Given the description of an element on the screen output the (x, y) to click on. 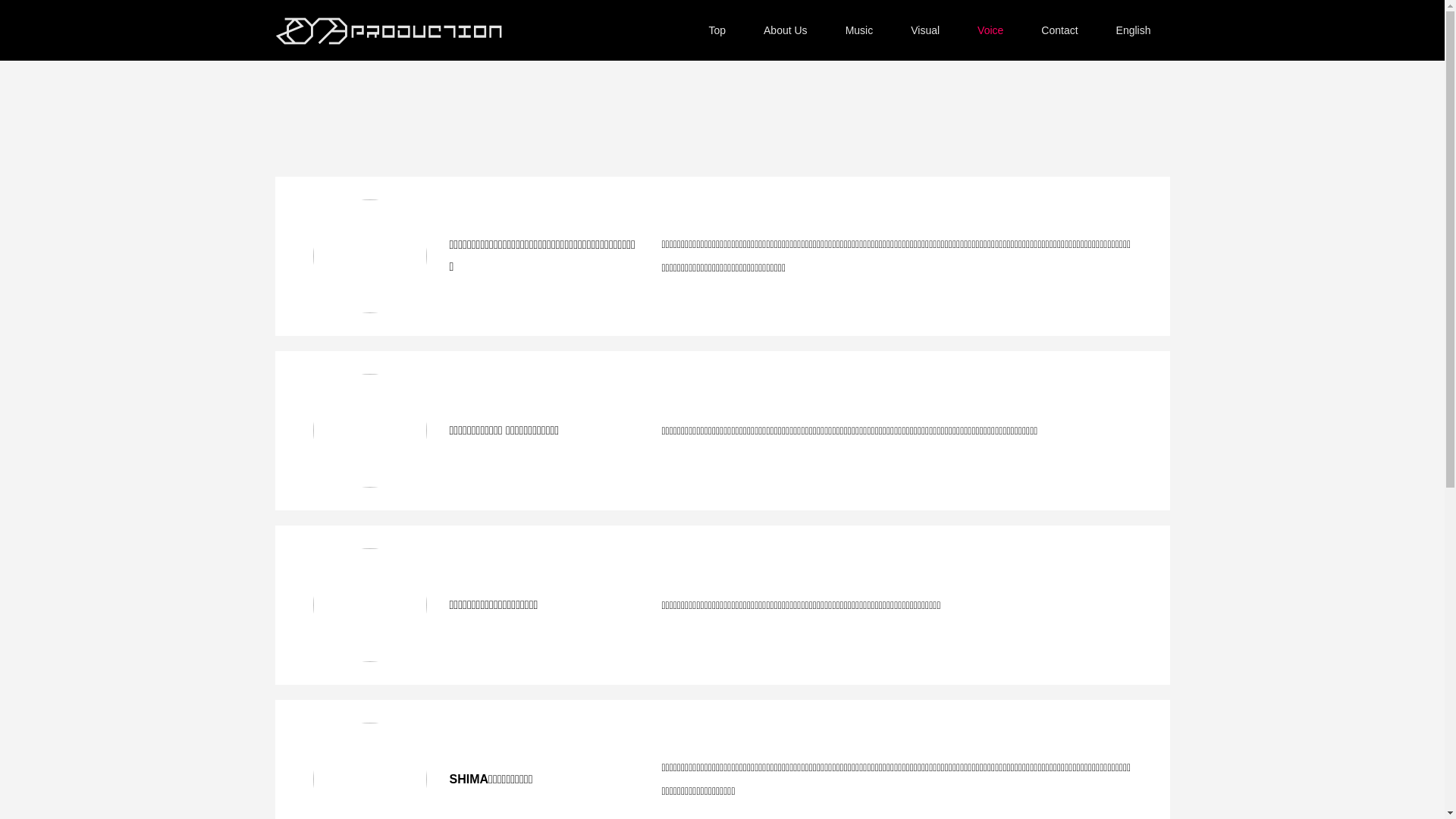
Contact Element type: text (1059, 30)
About Us Element type: text (785, 30)
Top Element type: text (716, 30)
Voice Element type: text (990, 30)
Visual Element type: text (924, 30)
Music Element type: text (859, 30)
English Element type: text (1133, 30)
